Given the description of an element on the screen output the (x, y) to click on. 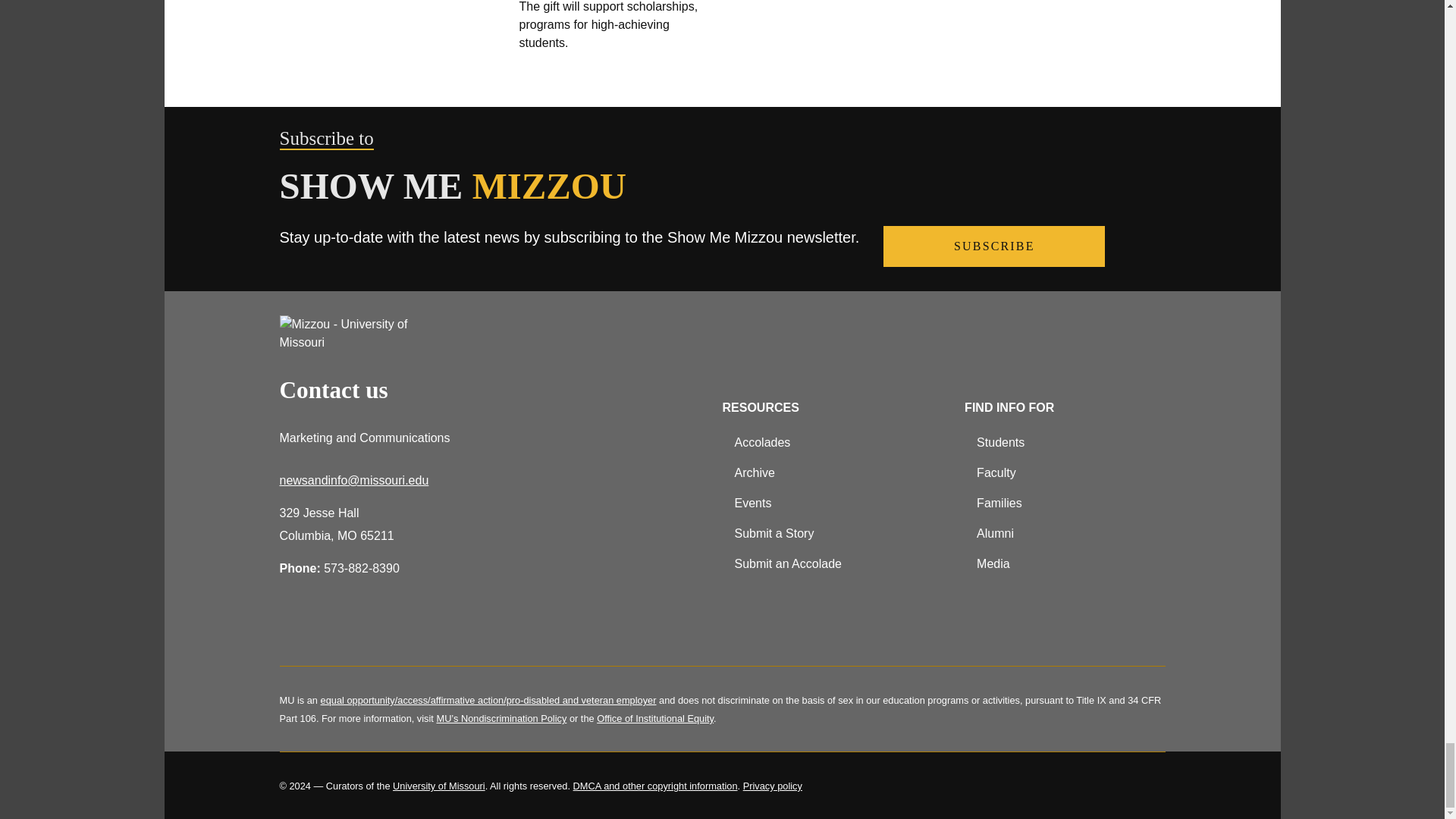
Linkedin (411, 627)
Facebook (292, 627)
Twitter (332, 627)
Instagram (371, 627)
